Given the description of an element on the screen output the (x, y) to click on. 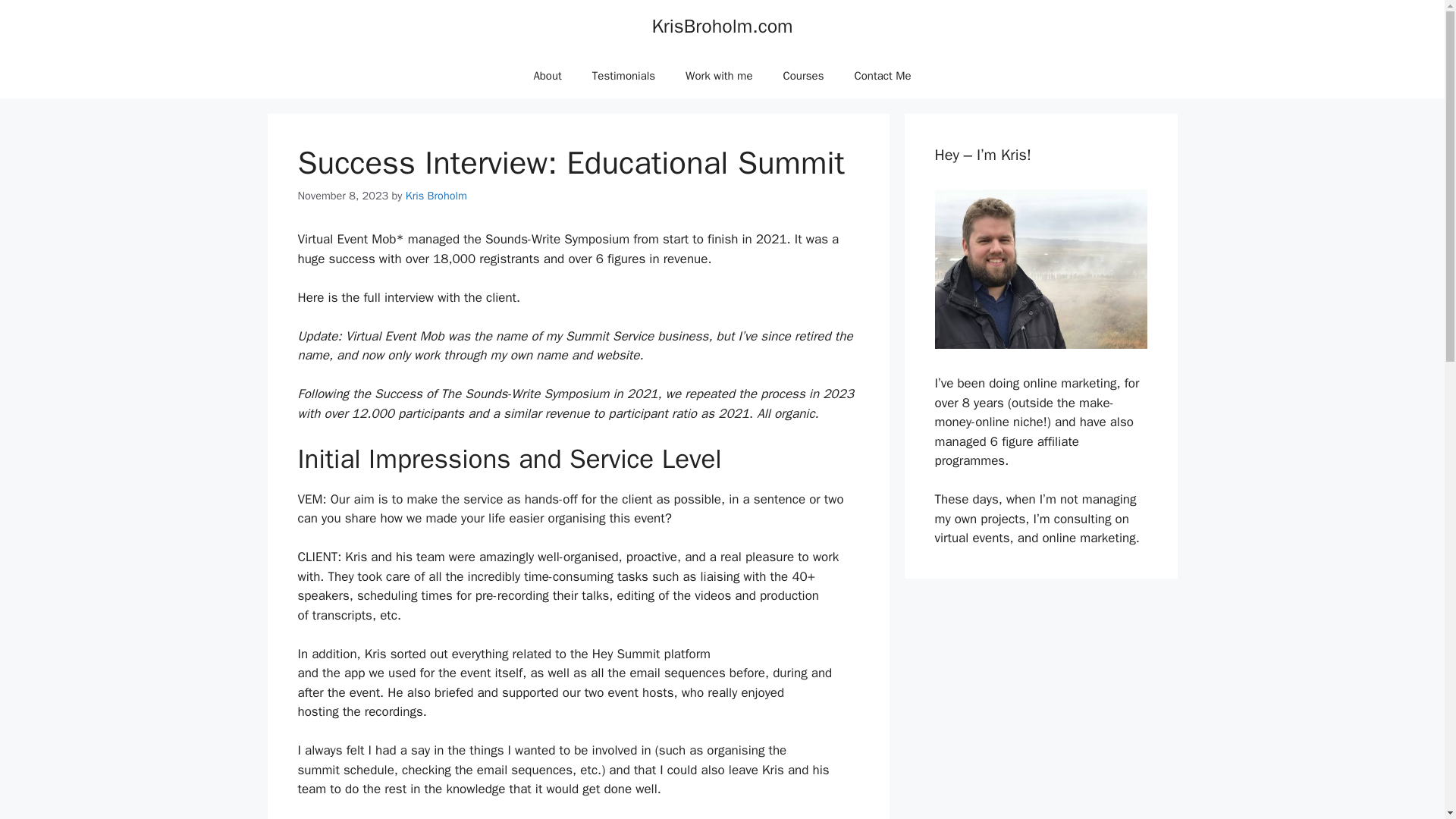
Courses (802, 75)
Contact Me (882, 75)
KrisBroholm.com (721, 25)
Kris Broholm (436, 195)
View all posts by Kris Broholm (436, 195)
Work with me (718, 75)
About (547, 75)
Testimonials (622, 75)
